Given the description of an element on the screen output the (x, y) to click on. 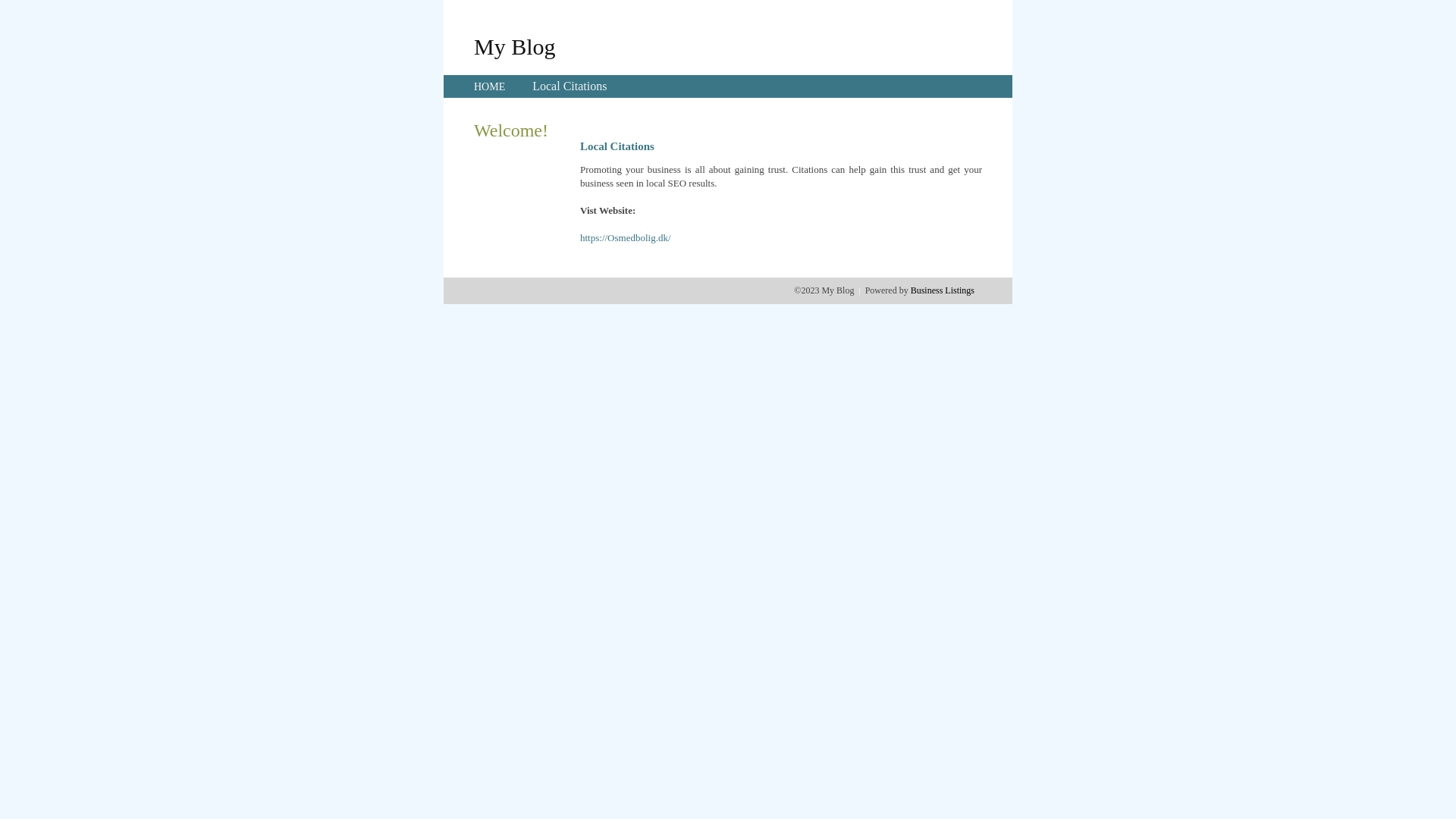
HOME Element type: text (489, 86)
https://Osmedbolig.dk/ Element type: text (625, 237)
My Blog Element type: text (514, 46)
Local Citations Element type: text (569, 85)
Business Listings Element type: text (942, 290)
